Given the description of an element on the screen output the (x, y) to click on. 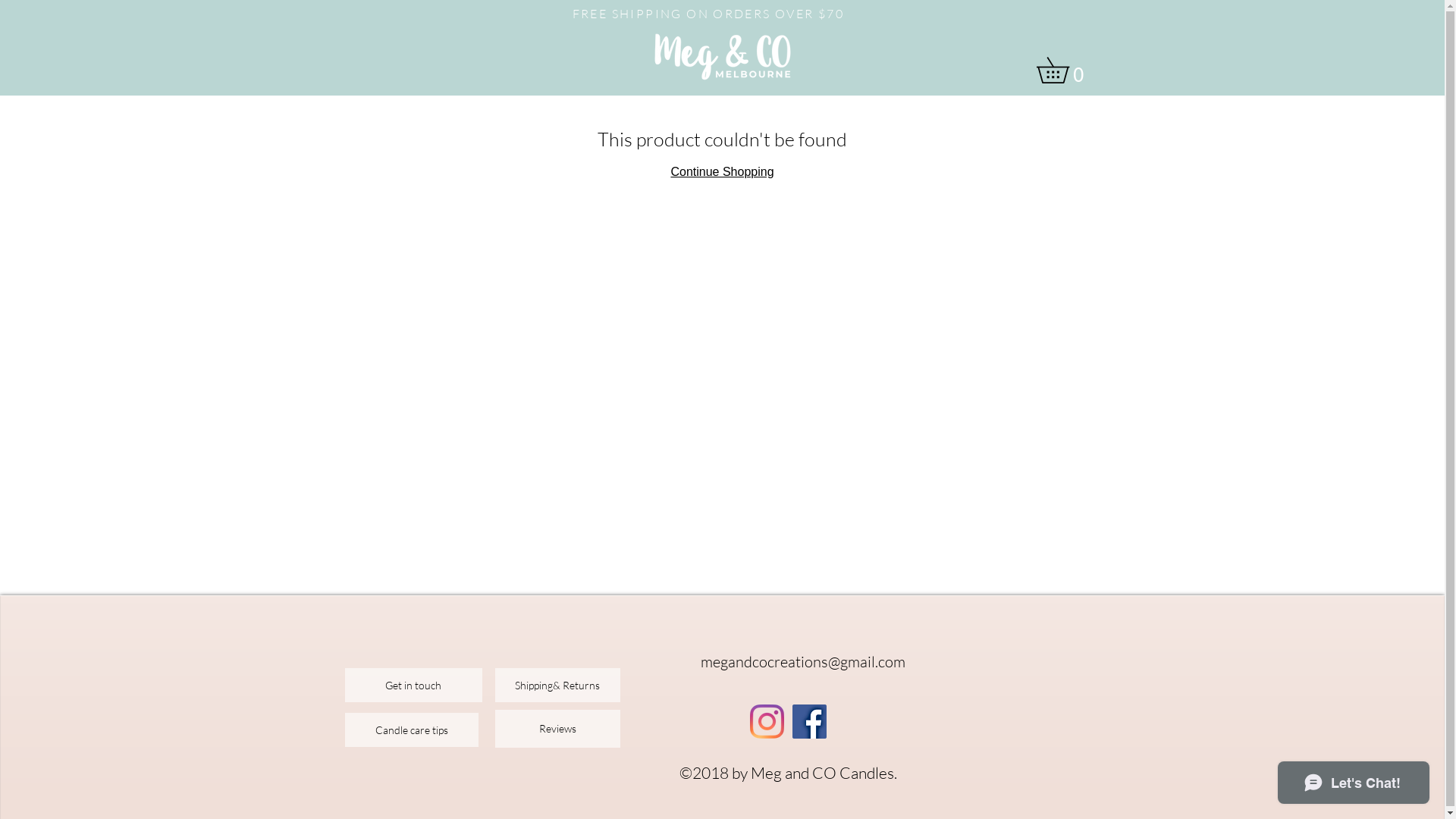
Candle care tips Element type: text (410, 729)
Get in touch Element type: text (412, 685)
Continue Shopping Element type: text (721, 171)
0 Element type: text (1064, 69)
megandcocreations@gmail.com Element type: text (802, 661)
Shipping& Returns Element type: text (556, 685)
Reviews Element type: text (556, 728)
Home Element type: text (402, 27)
